Given the description of an element on the screen output the (x, y) to click on. 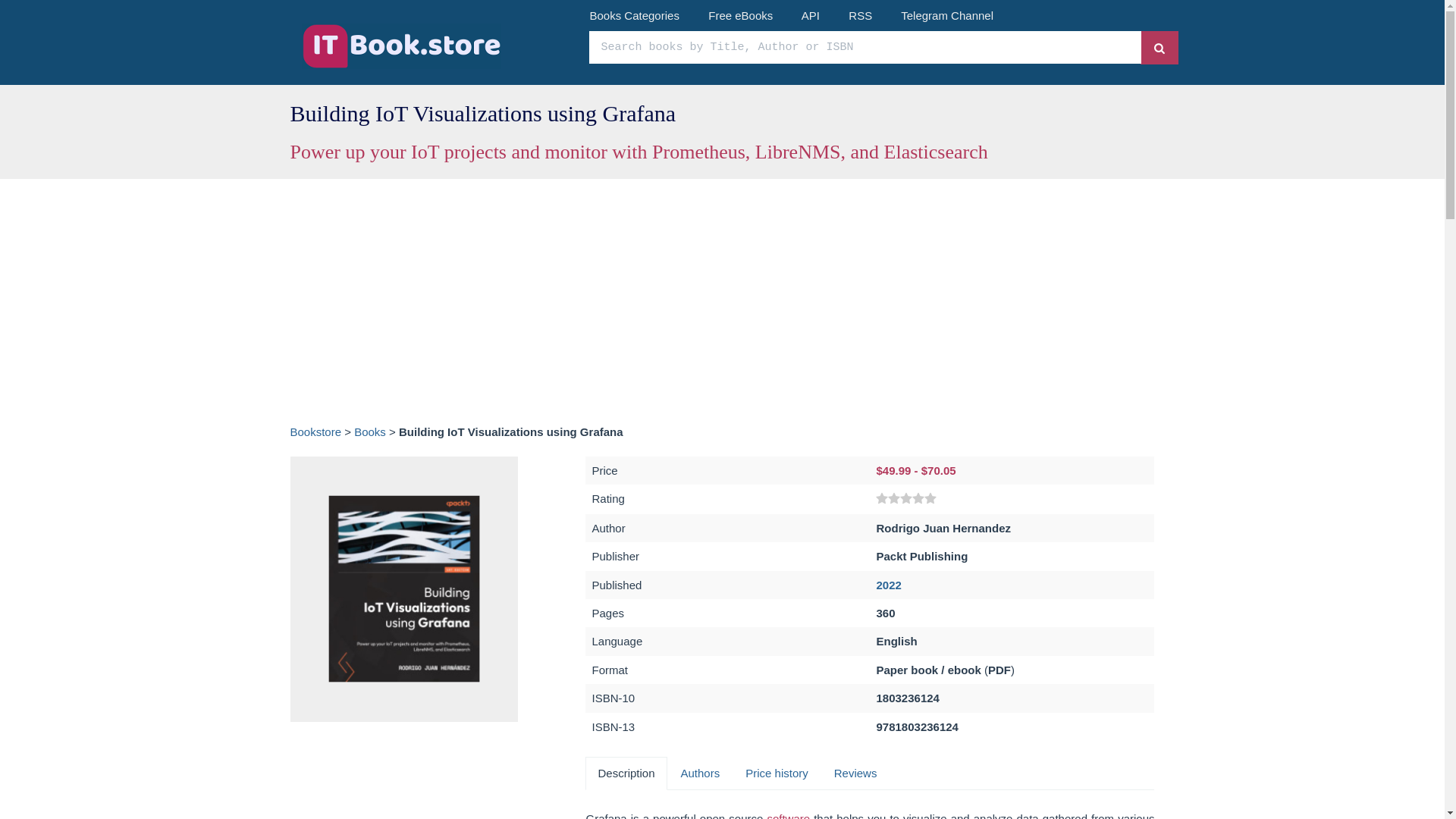
IT Bookstore (434, 45)
IT Books of 2022 (888, 584)
Advertisement (402, 778)
API (810, 15)
Books (369, 431)
IT Bookstore (314, 431)
Books (369, 431)
Authors (700, 772)
Description (625, 772)
2022 (888, 584)
Reviews (855, 772)
RSS Feed (860, 15)
software (788, 815)
Bookstore (314, 431)
Join ITBook.store Telegram Channel (946, 15)
